Given the description of an element on the screen output the (x, y) to click on. 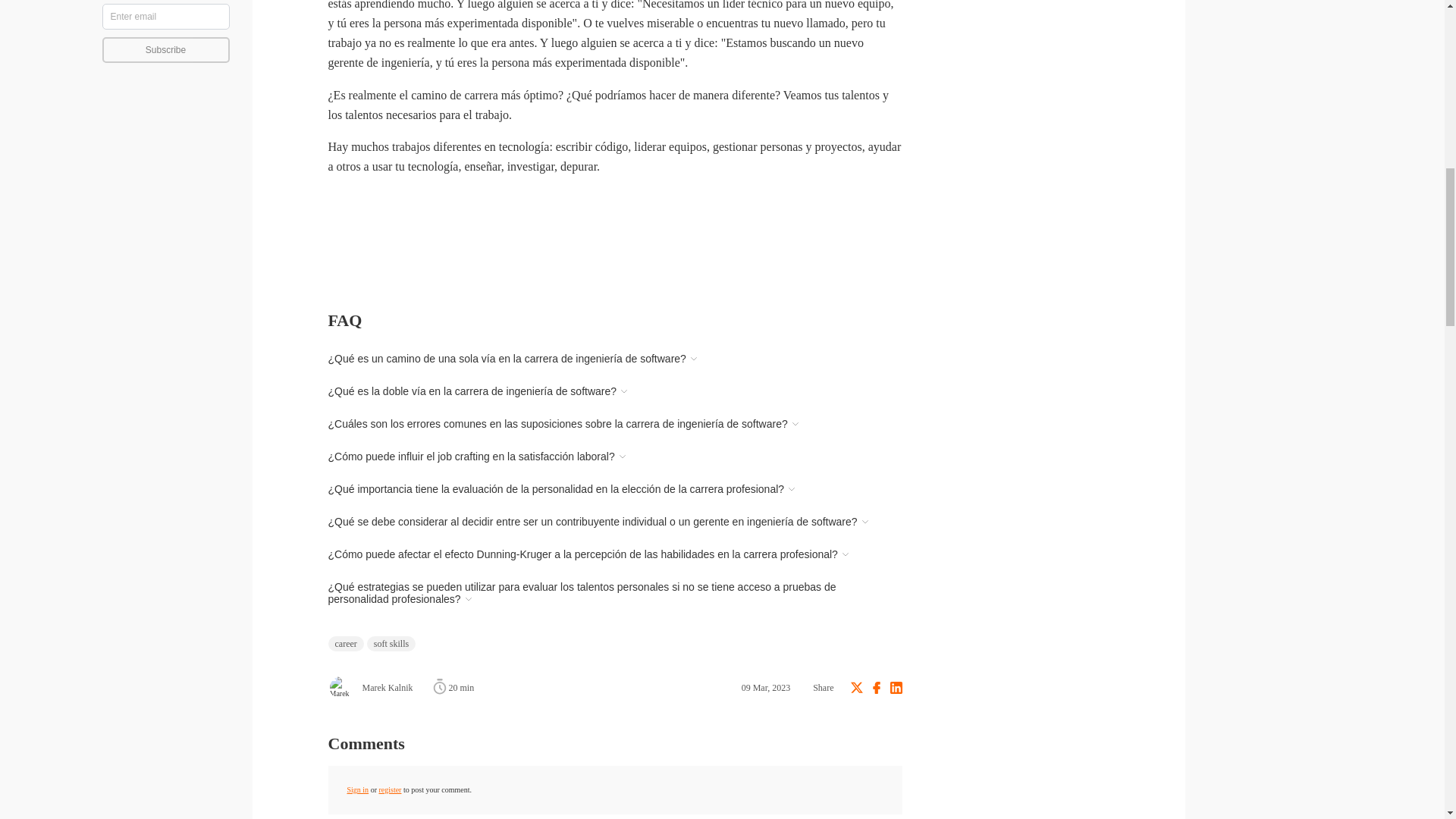
career (344, 643)
Marek Kalnik (370, 687)
register (389, 789)
soft skills (390, 643)
Sign in (358, 789)
